Given the description of an element on the screen output the (x, y) to click on. 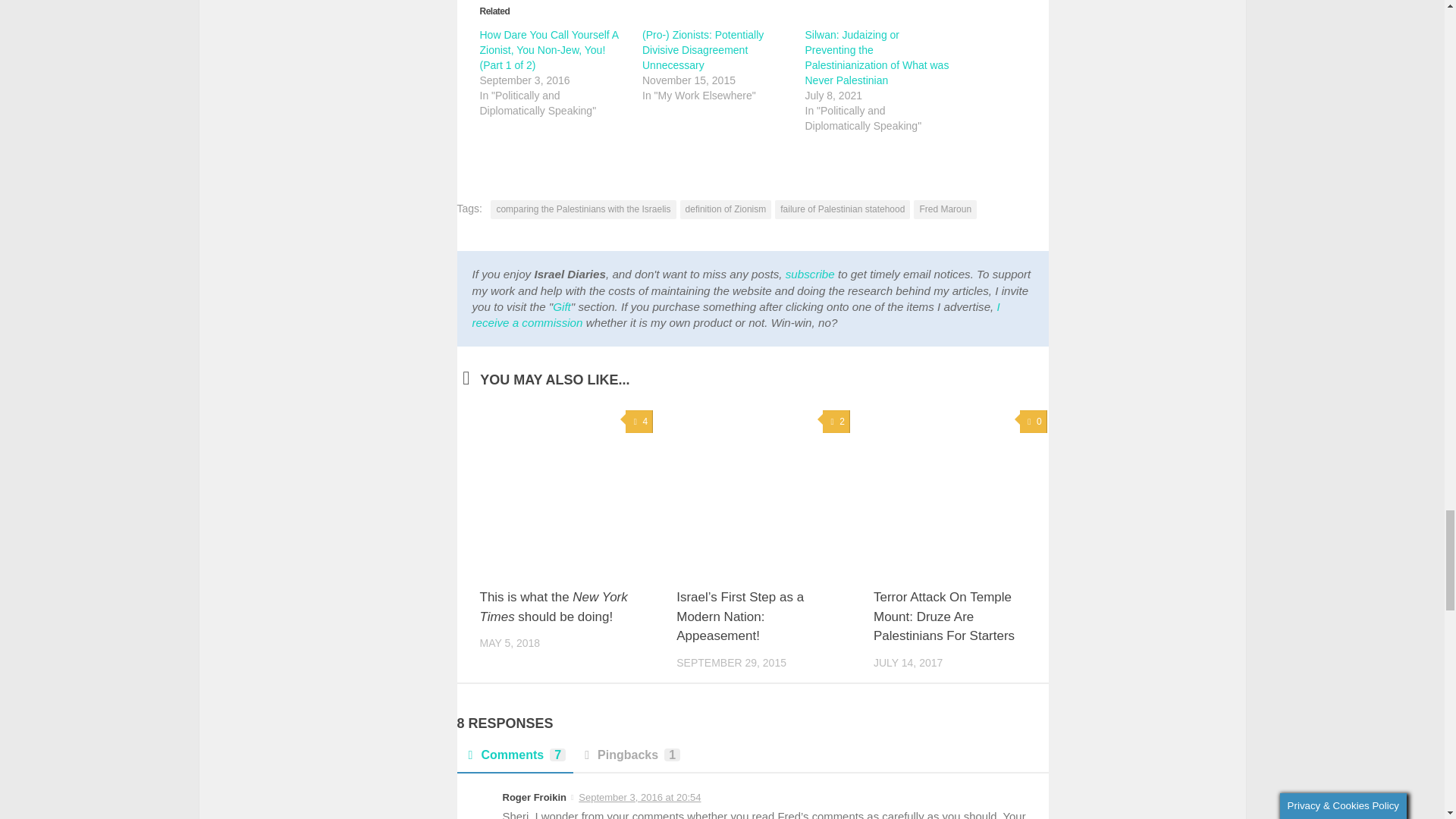
more details (734, 314)
